Given the description of an element on the screen output the (x, y) to click on. 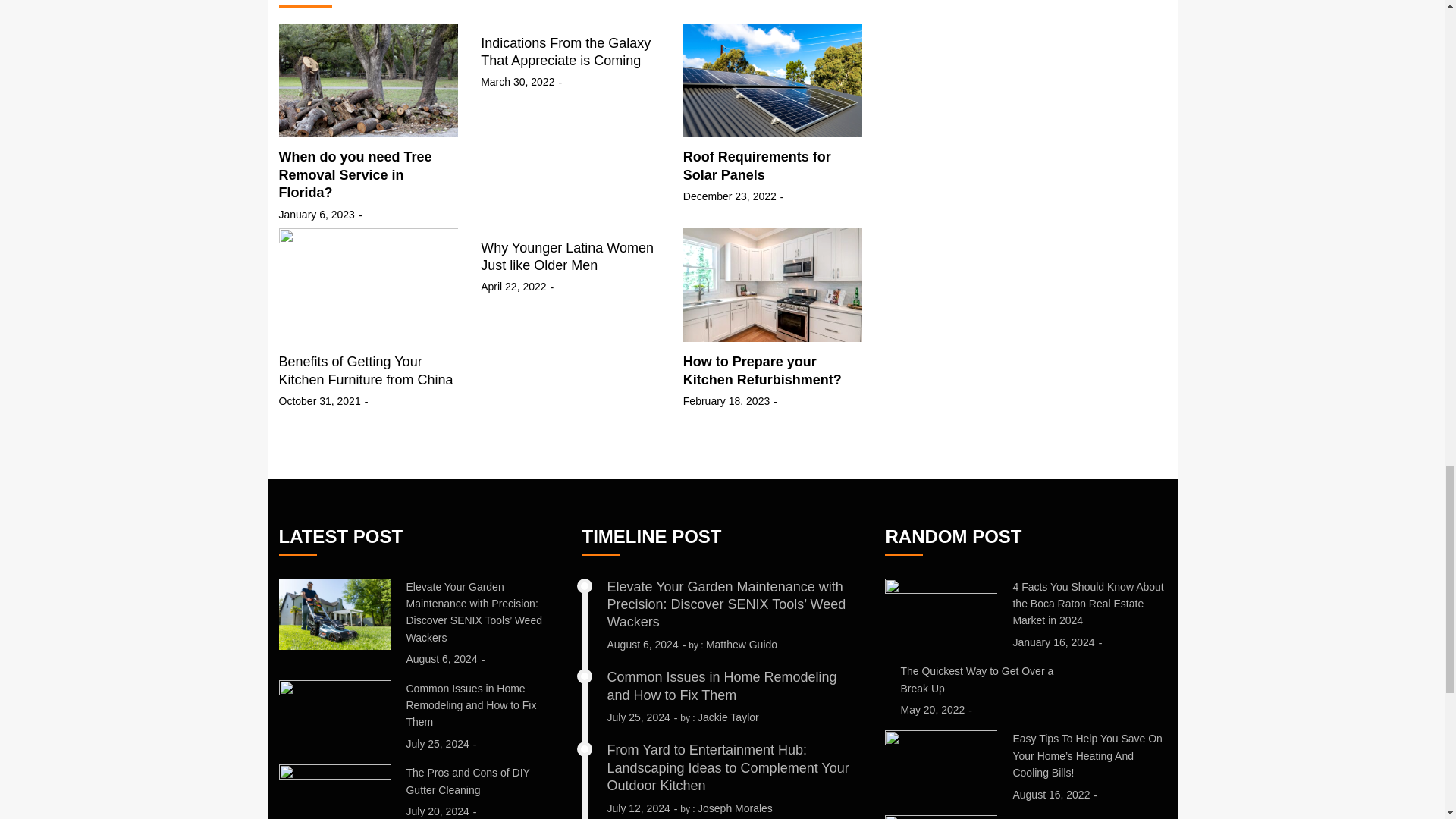
Indications From the Galaxy That Appreciate is Coming (565, 51)
When do you need Tree Removal Service in Florida? (355, 174)
Why Younger Latina Women Just like Older Men (566, 256)
February 18, 2023 (726, 401)
December 23, 2022 (729, 196)
Roof Requirements for Solar Panels (756, 165)
April 22, 2022 (513, 286)
How to Prepare your Kitchen Refurbishment? (761, 369)
October 31, 2021 (320, 401)
March 30, 2022 (517, 81)
